Given the description of an element on the screen output the (x, y) to click on. 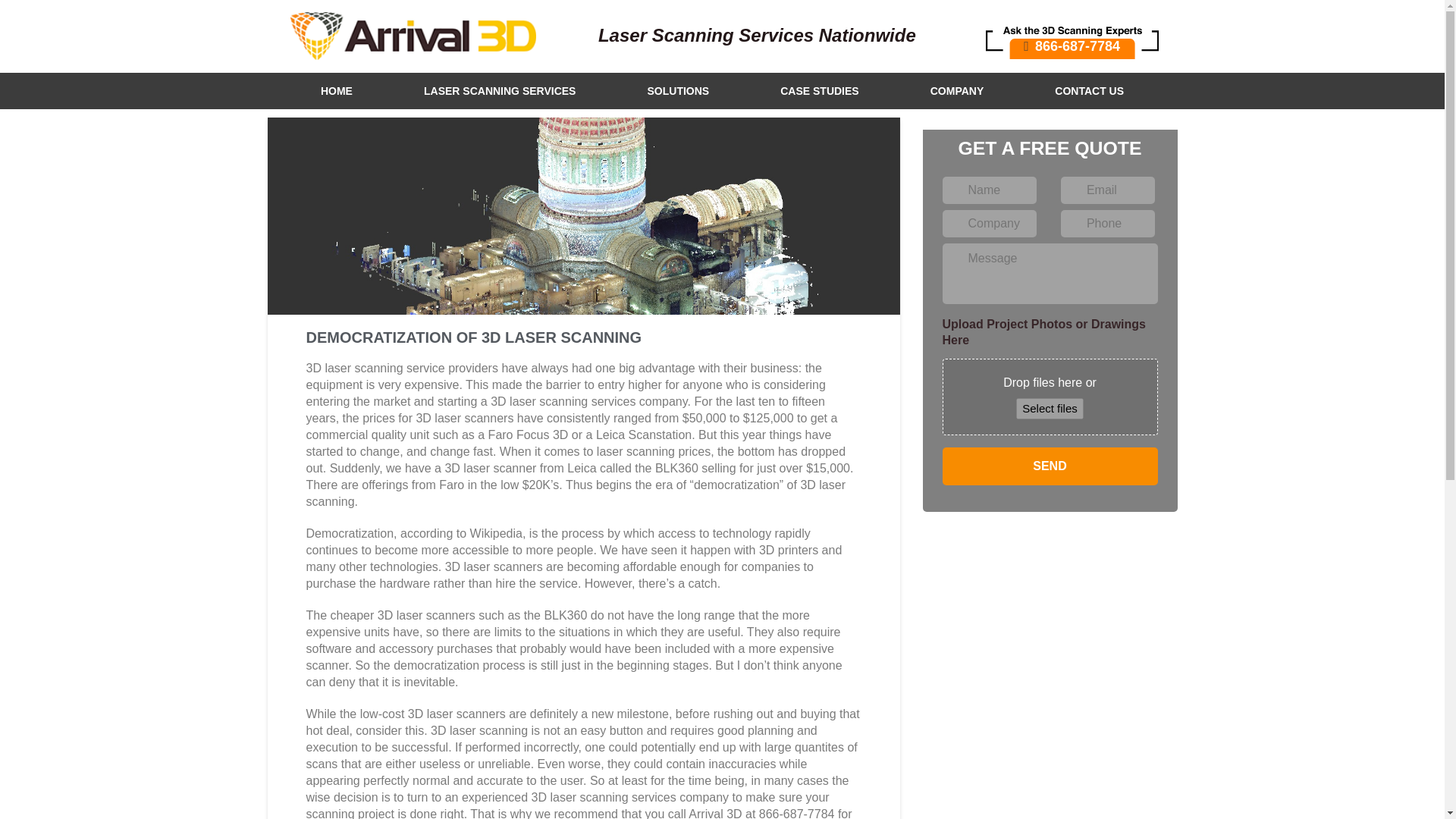
SOLUTIONS (677, 90)
CASE STUDIES (818, 90)
Send (1049, 466)
HOME (336, 90)
CONTACT US (1089, 90)
COMPANY (956, 90)
866-687-7784 (1071, 37)
LASER SCANNING SERVICES (500, 90)
